Given the description of an element on the screen output the (x, y) to click on. 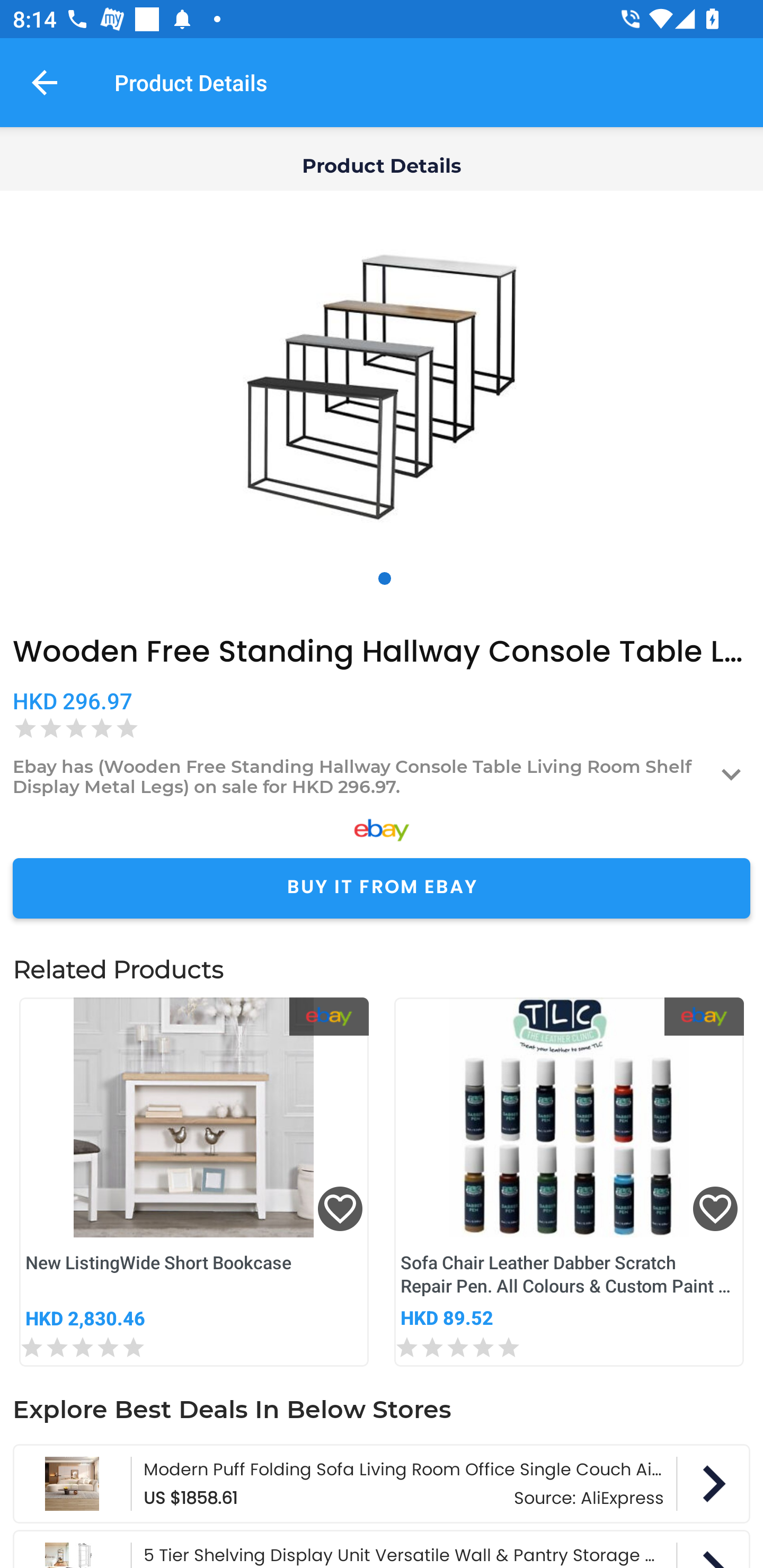
Navigate up (44, 82)
BUY IT FROM EBAY (381, 888)
New ListingWide Short Bookcase HKD 2,830.46 0.0 (193, 1182)
